Given the description of an element on the screen output the (x, y) to click on. 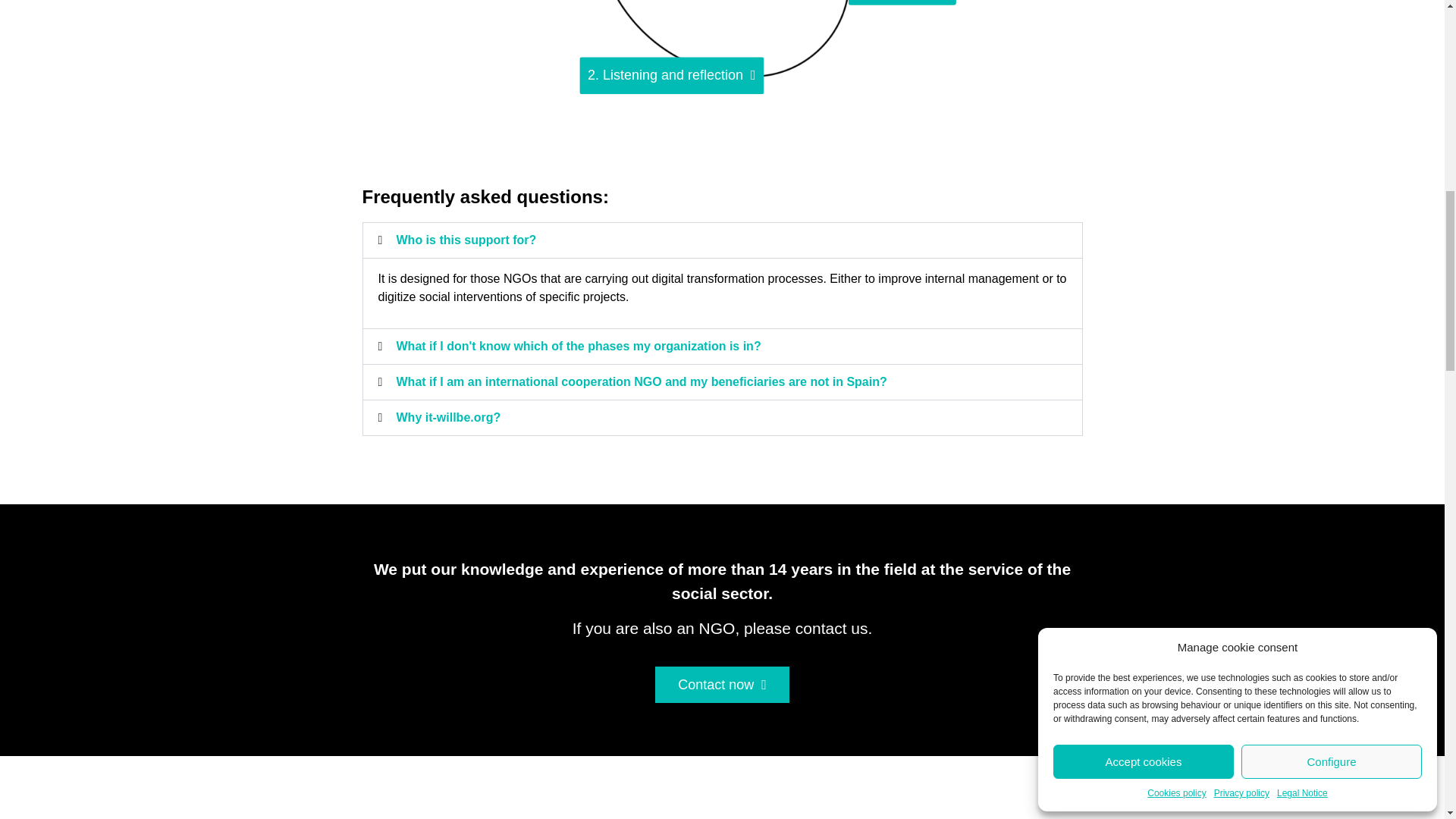
Who is this support for? (465, 239)
